Given the description of an element on the screen output the (x, y) to click on. 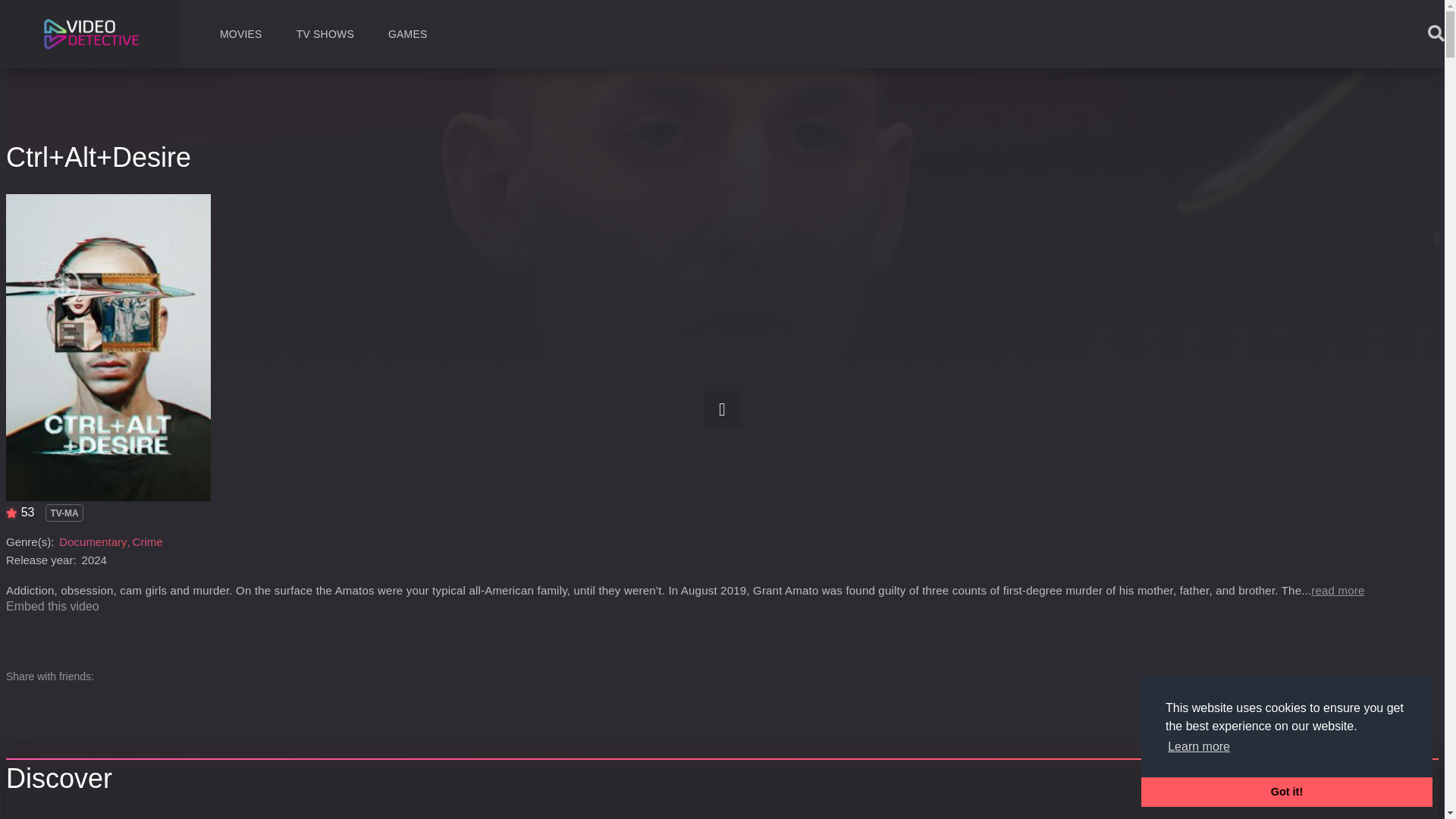
OVERVIEW (34, 812)
Embed this video (52, 605)
Crime (147, 542)
read more (1337, 590)
Learn more (1198, 746)
Documentary (92, 542)
SEARCH (1395, 45)
PHOTOS (351, 812)
